Given the description of an element on the screen output the (x, y) to click on. 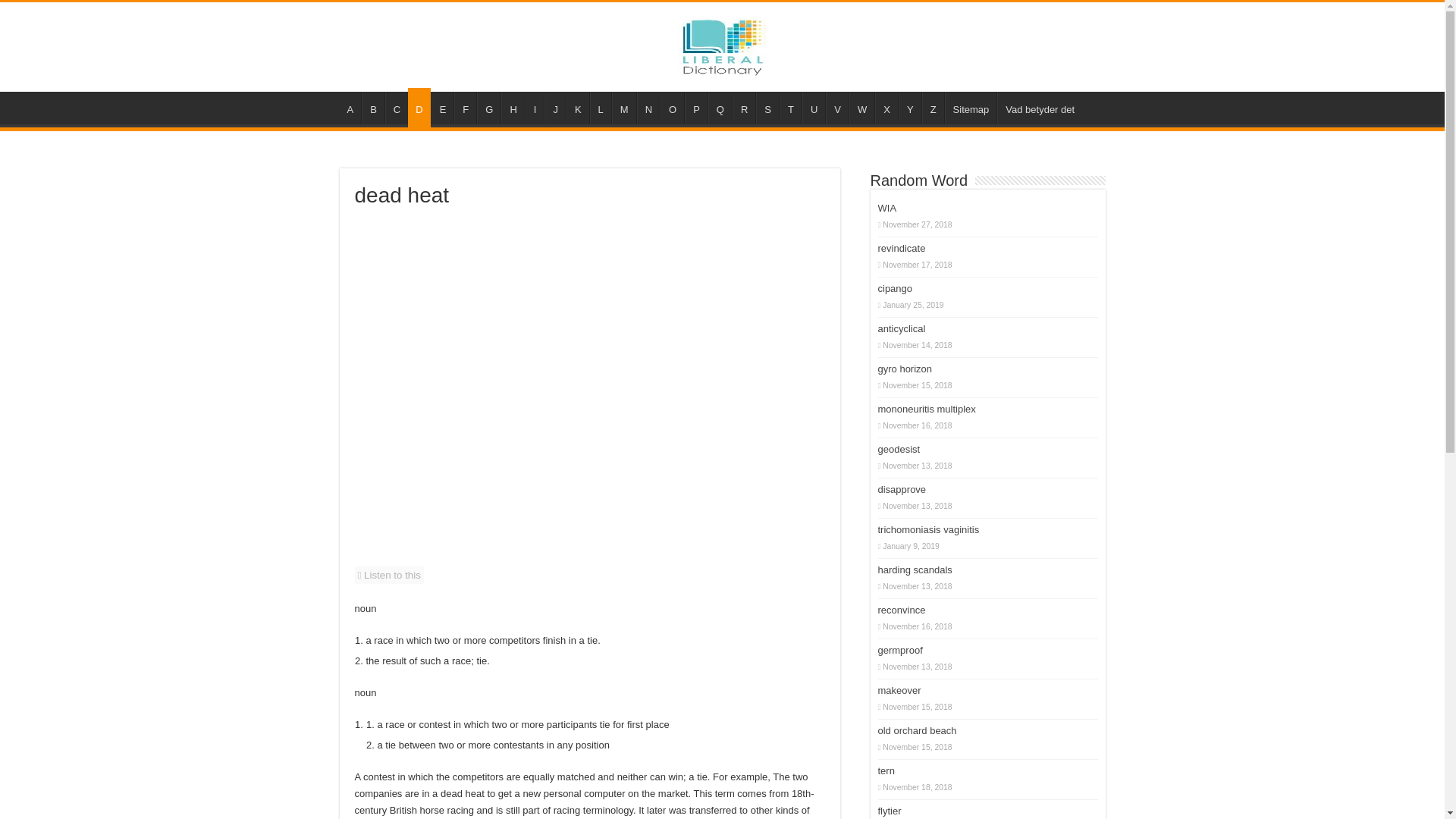
Advertisement (519, 272)
Liberal Dictionary (722, 43)
Advertisement (658, 272)
Advertisement (590, 414)
